Given the description of an element on the screen output the (x, y) to click on. 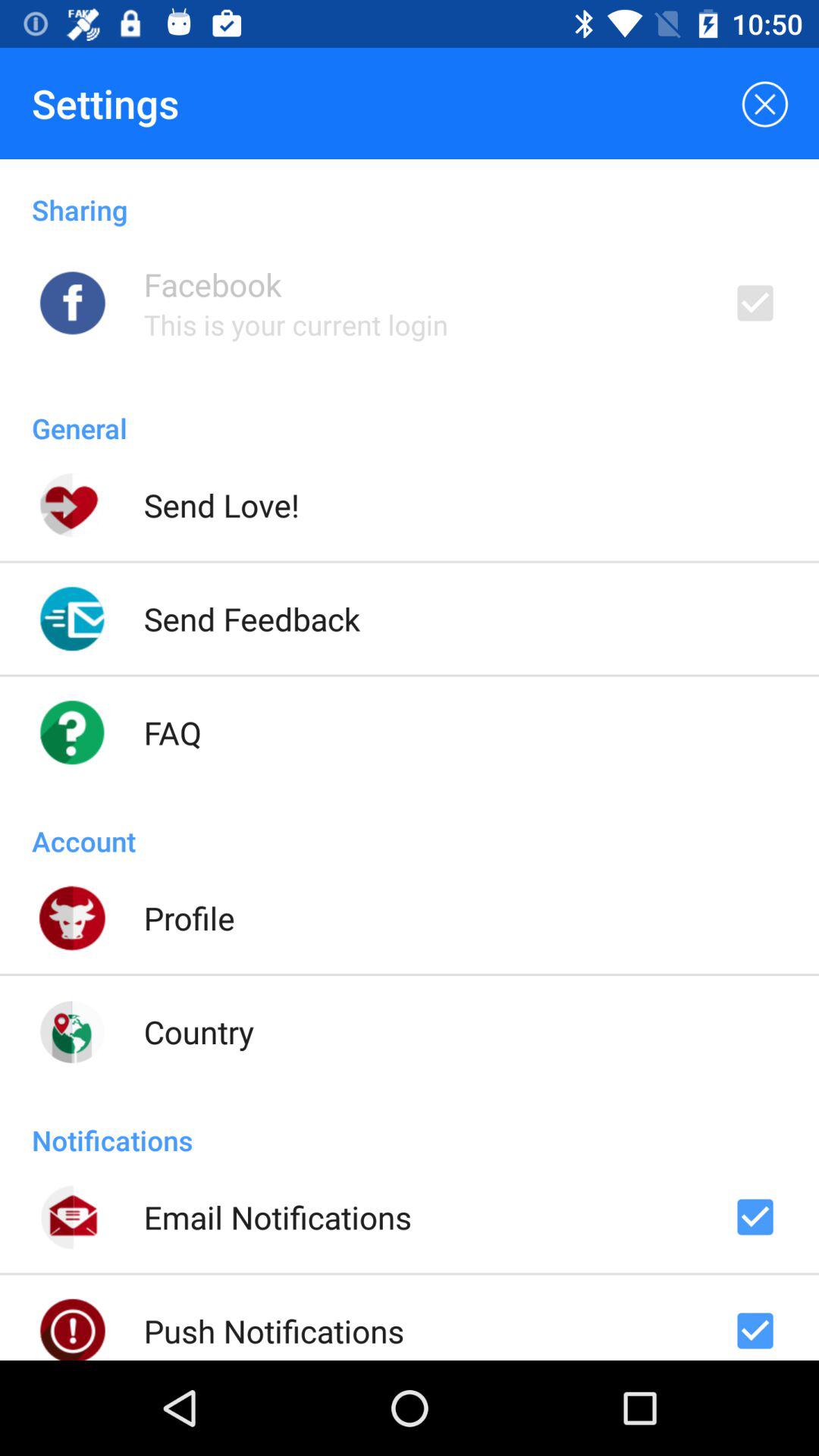
open icon above the general icon (295, 324)
